Given the description of an element on the screen output the (x, y) to click on. 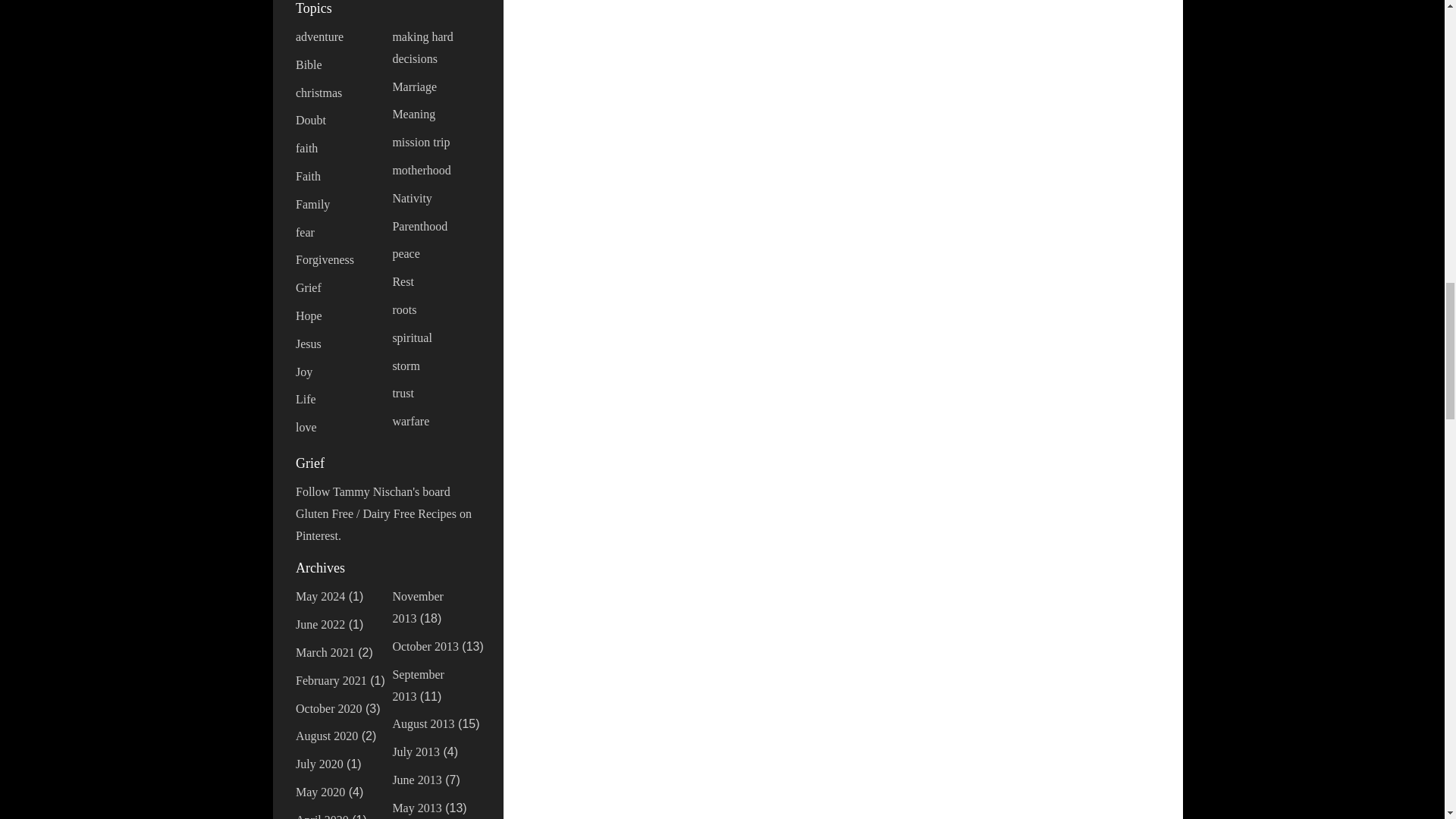
Grief (308, 287)
Faith (307, 175)
Family (312, 204)
Forgiveness (324, 259)
Hope (308, 315)
Doubt (310, 119)
Joy (304, 371)
fear (304, 232)
christmas (318, 92)
adventure (319, 36)
Bible (308, 64)
faith (306, 147)
Jesus (308, 343)
